Given the description of an element on the screen output the (x, y) to click on. 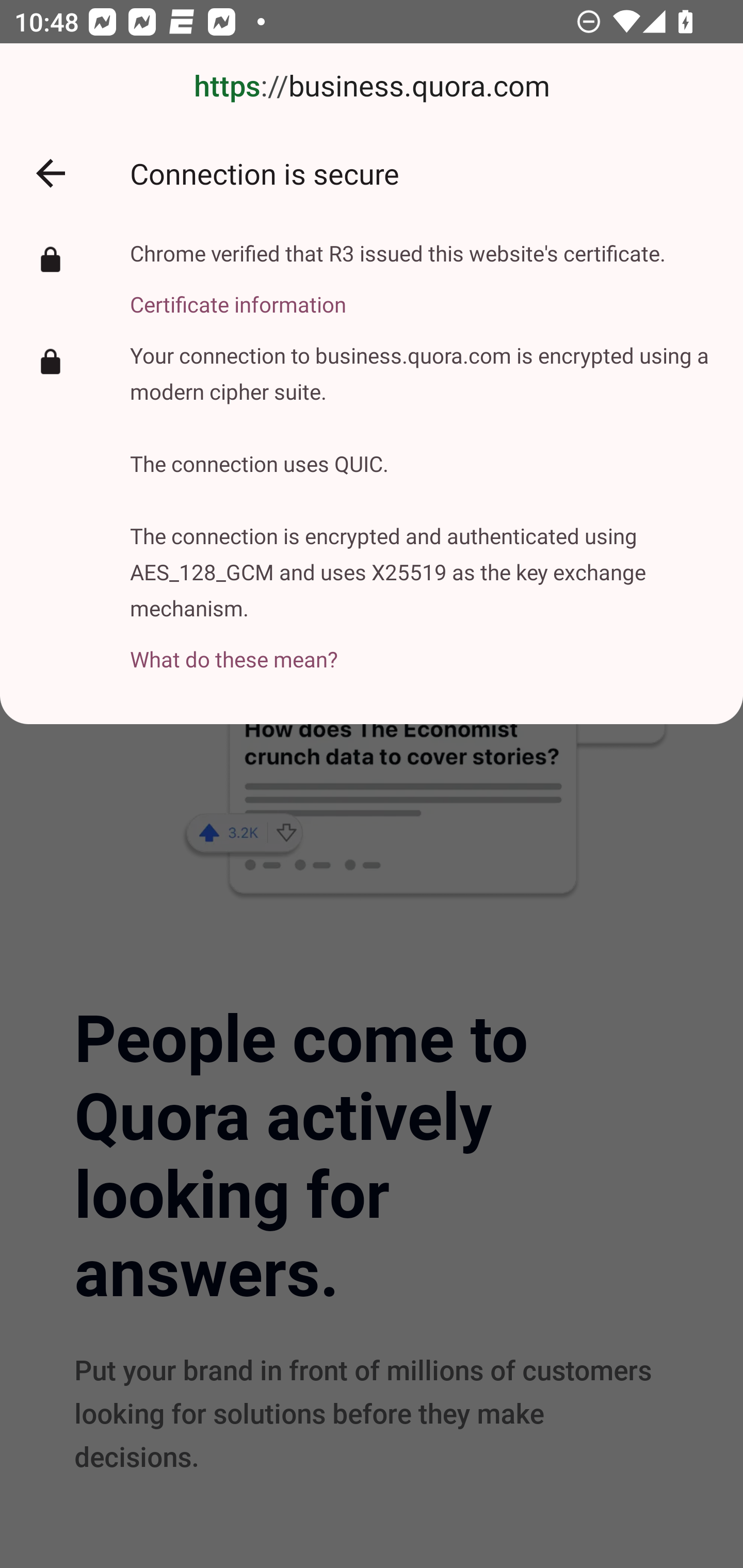
https://business.quora.com (371, 86)
Back (50, 173)
Certificate information (398, 293)
What do these mean? (422, 648)
